Given the description of an element on the screen output the (x, y) to click on. 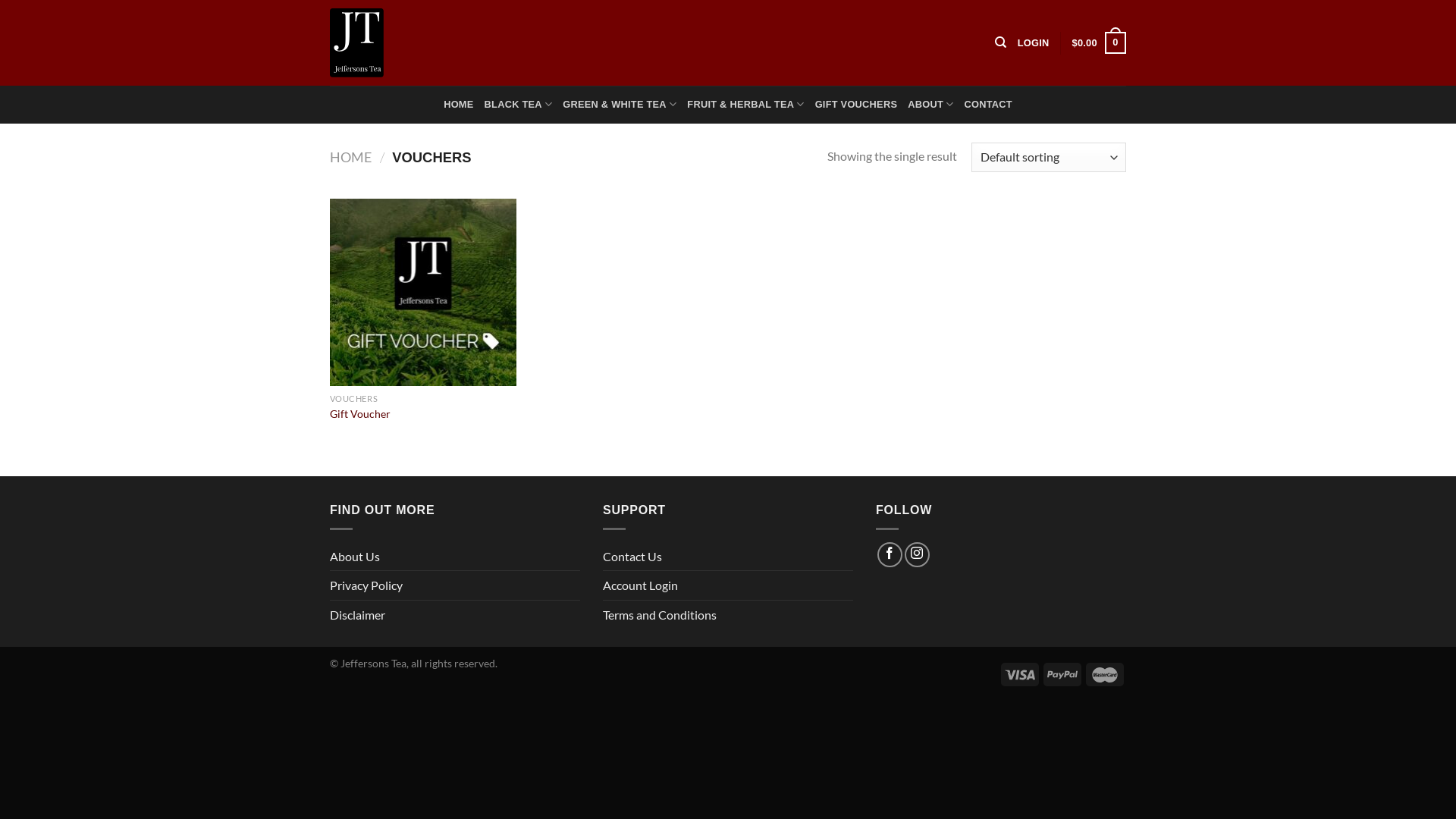
BLACK TEA Element type: text (518, 104)
HOME Element type: text (350, 156)
Terms and Conditions Element type: text (659, 614)
GREEN & WHITE TEA Element type: text (619, 104)
LOGIN Element type: text (1033, 42)
GIFT VOUCHERS Element type: text (856, 104)
Contact Us Element type: text (632, 556)
Account Login Element type: text (639, 585)
HOME Element type: text (458, 104)
$0.00
0 Element type: text (1099, 42)
Privacy Policy Element type: text (365, 585)
ABOUT Element type: text (930, 104)
CONTACT Element type: text (987, 104)
Follow on Facebook Element type: hover (889, 554)
About Us Element type: text (354, 556)
FRUIT & HERBAL TEA Element type: text (745, 104)
Follow on Instagram Element type: hover (916, 554)
Gift Voucher Element type: text (359, 414)
Disclaimer Element type: text (357, 614)
